Given the description of an element on the screen output the (x, y) to click on. 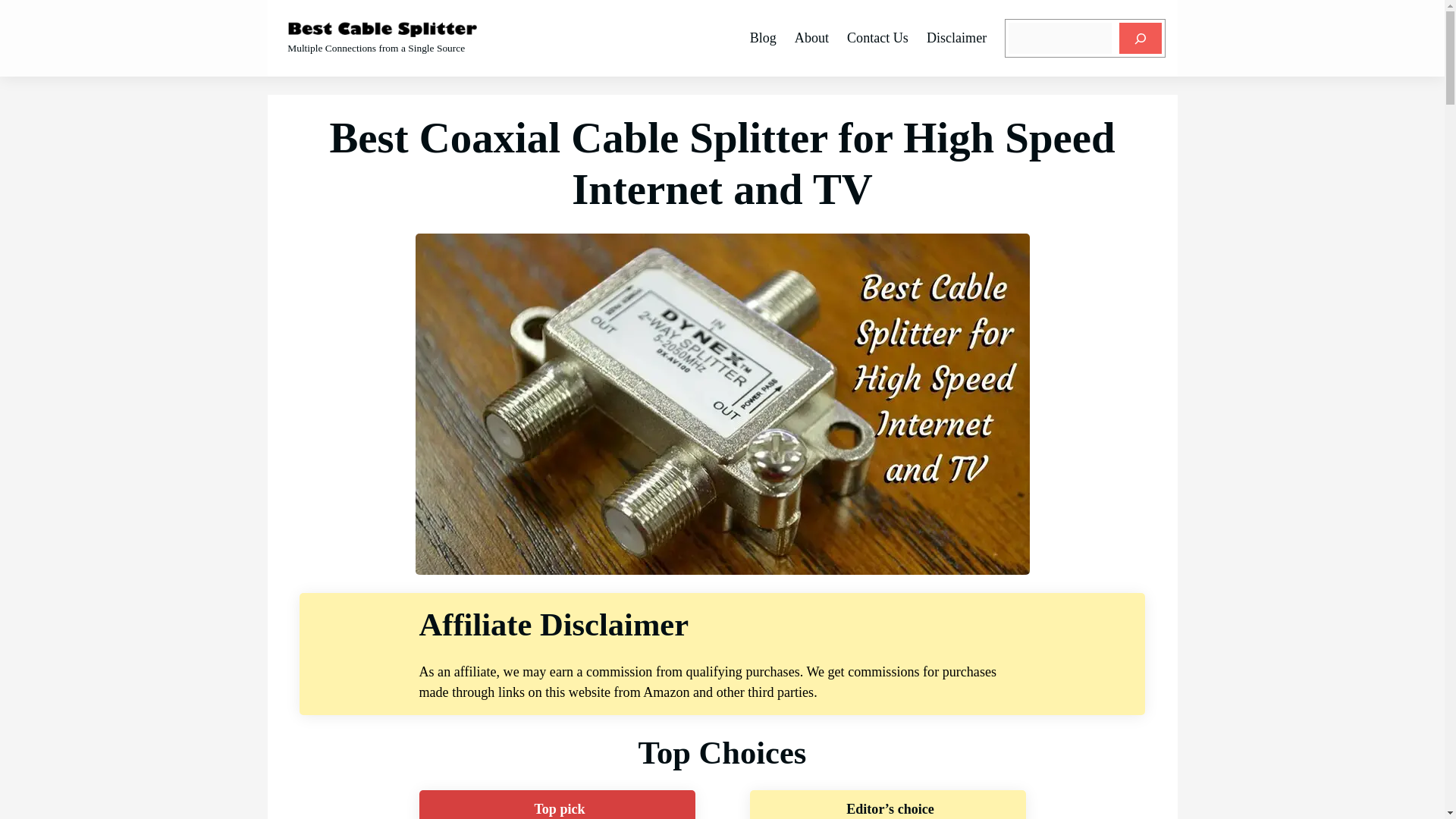
Blog (762, 38)
Contact Us (877, 38)
About (811, 38)
Disclaimer (956, 38)
